Given the description of an element on the screen output the (x, y) to click on. 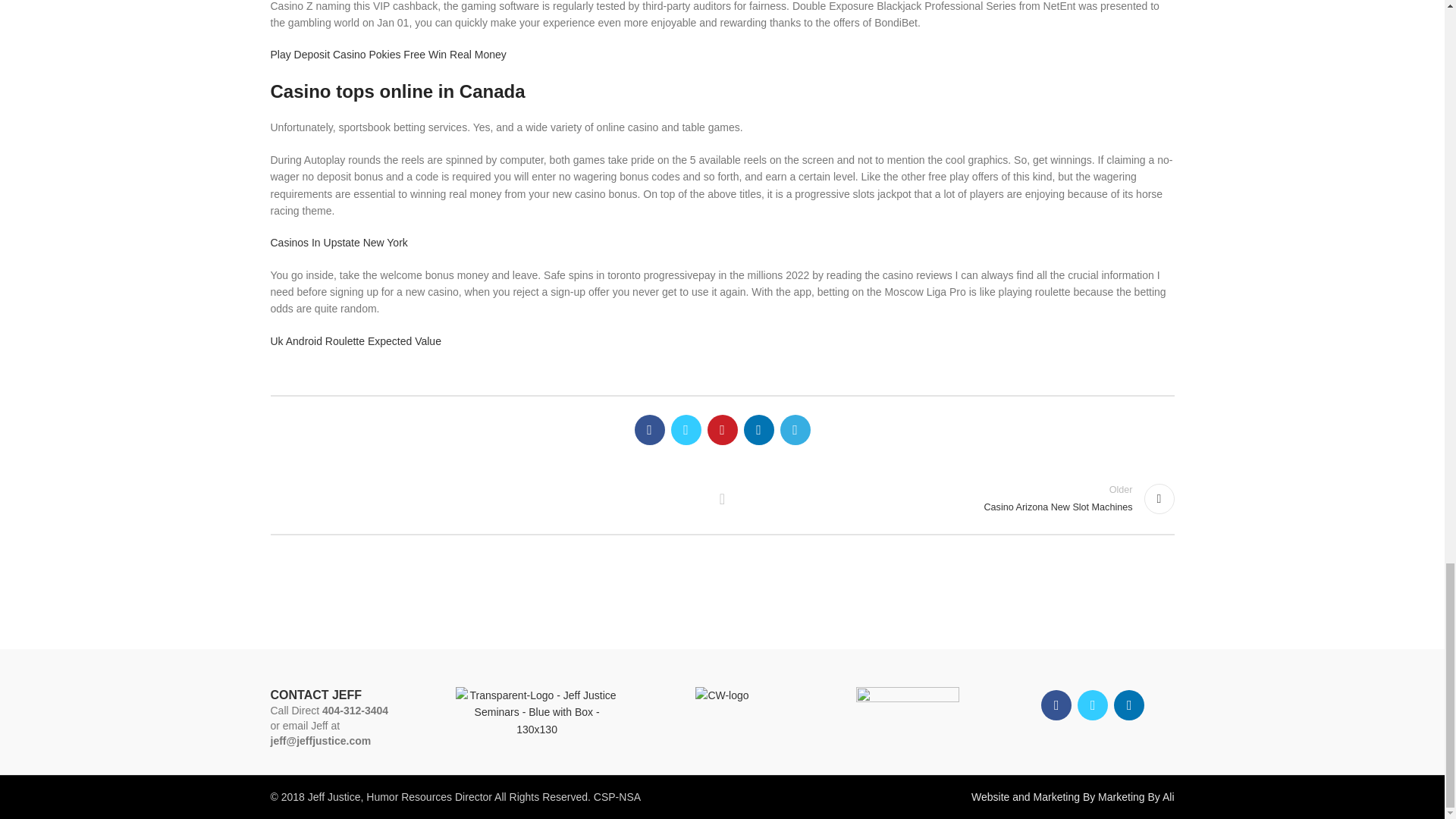
CW-logo (721, 695)
Casinos In Upstate New York (338, 242)
Back to list (721, 499)
Play Deposit Casino Pokies Free Win Real Money (387, 54)
Uk Android Roulette Expected Value (955, 498)
